Given the description of an element on the screen output the (x, y) to click on. 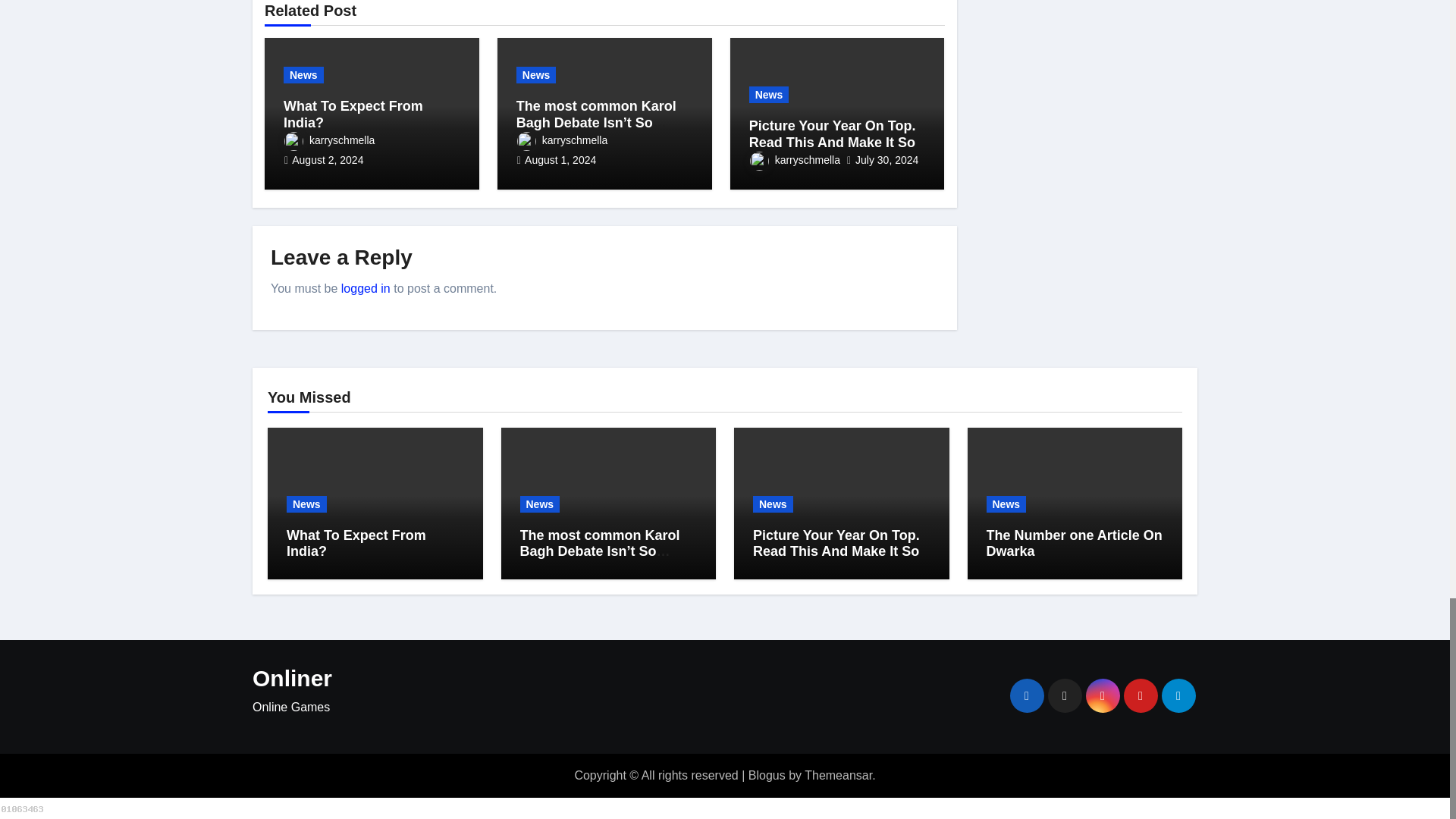
Permalink to: What To Expect From India? (353, 114)
Permalink to: The Number one Article On Dwarka (1073, 543)
News (303, 74)
What To Expect From India? (353, 114)
Permalink to: What To Expect From India? (356, 543)
